Given the description of an element on the screen output the (x, y) to click on. 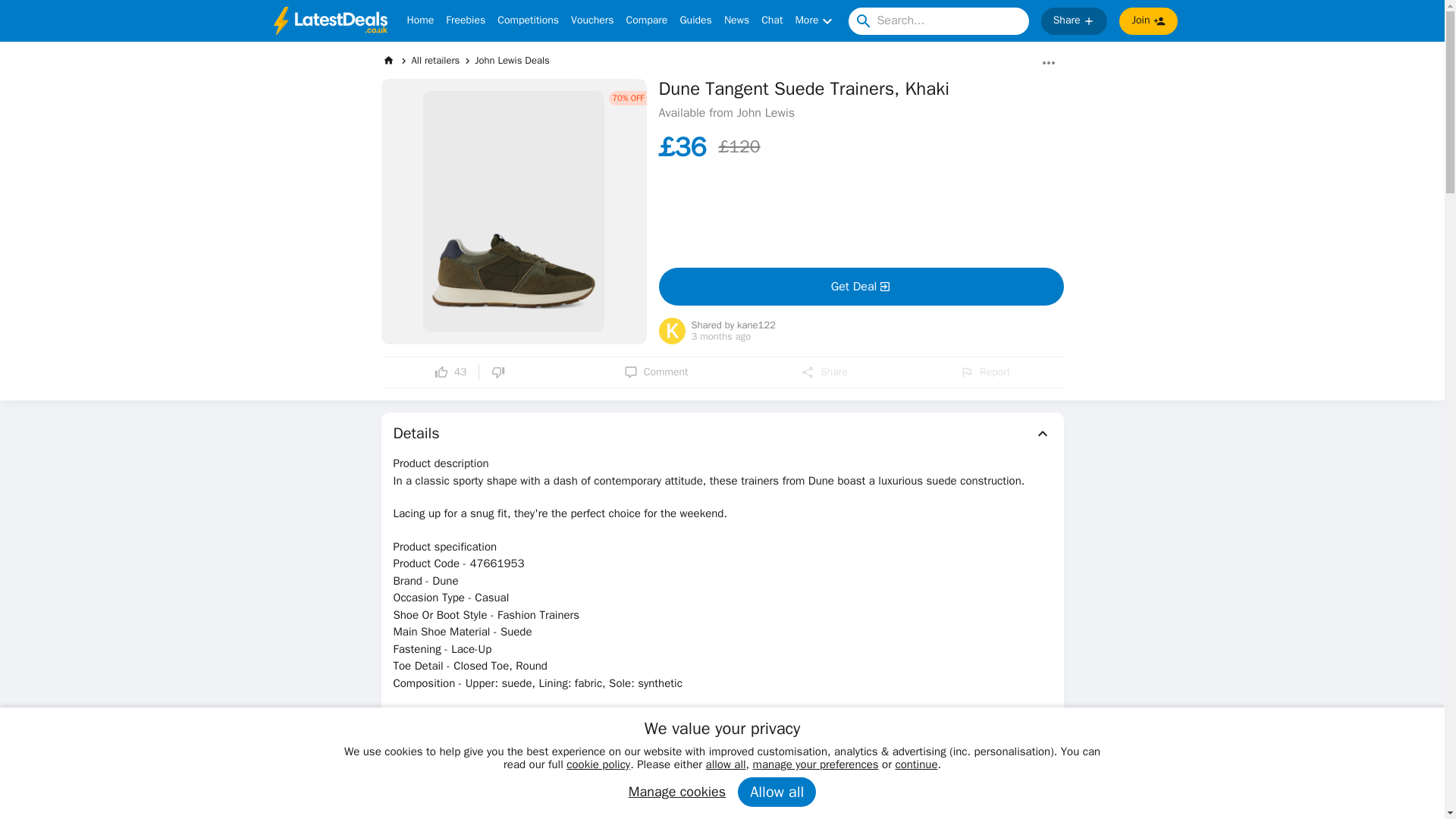
All retailers (435, 60)
43 (450, 372)
Freebies (464, 21)
Top Offers (722, 814)
Trainers (417, 747)
Comment (656, 371)
Vouchers (591, 21)
Compare (647, 21)
News (736, 21)
Share (823, 371)
Join (1147, 21)
Get Deal (860, 286)
More (814, 21)
Competitions (528, 21)
Guides (695, 21)
